Given the description of an element on the screen output the (x, y) to click on. 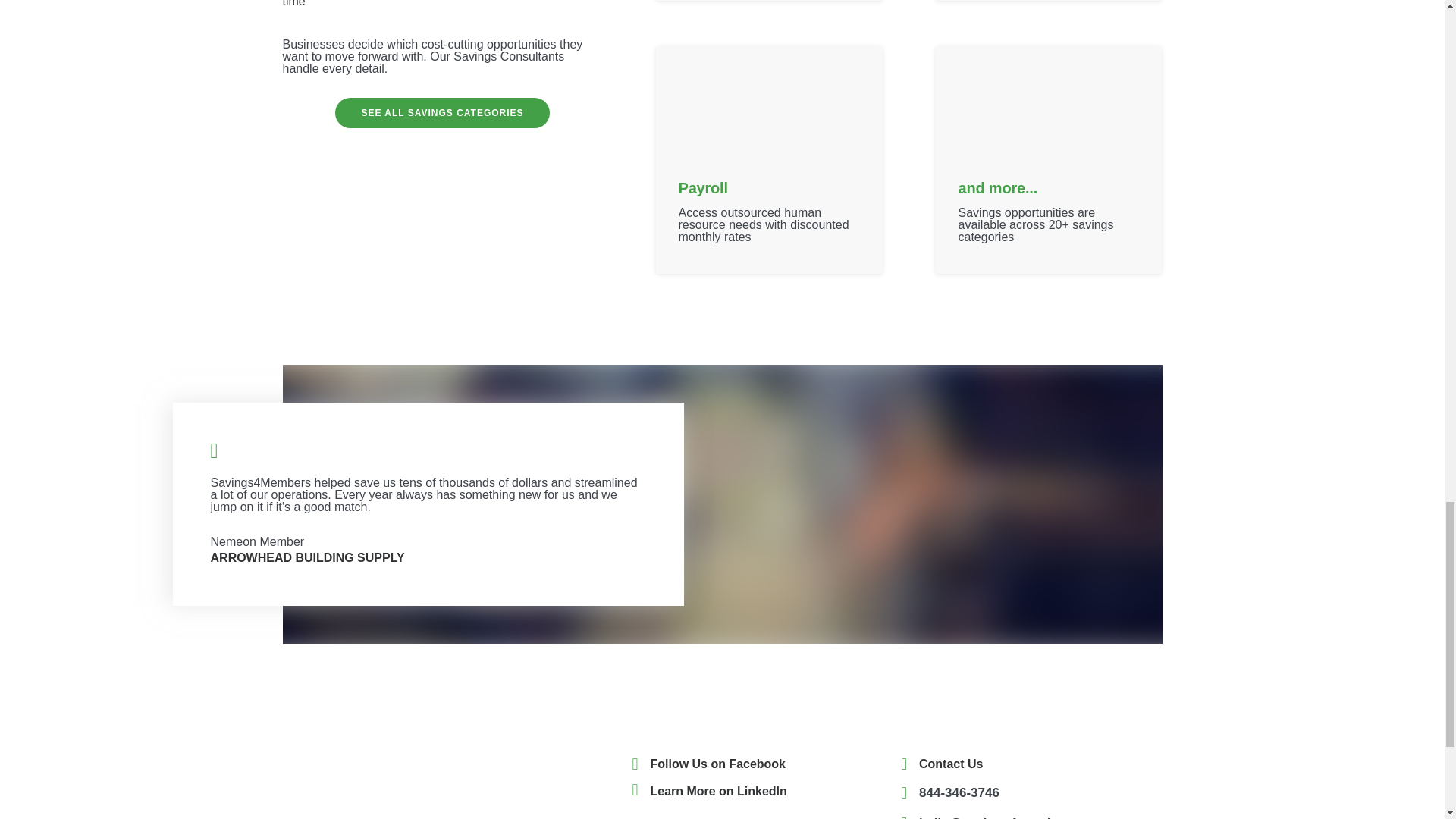
SEE ALL SAVINGS CATEGORIES (441, 112)
Contact Us (950, 763)
Learn More on LinkedIn (718, 790)
844-346-3746 (958, 792)
Follow Us on Facebook (718, 763)
